Given the description of an element on the screen output the (x, y) to click on. 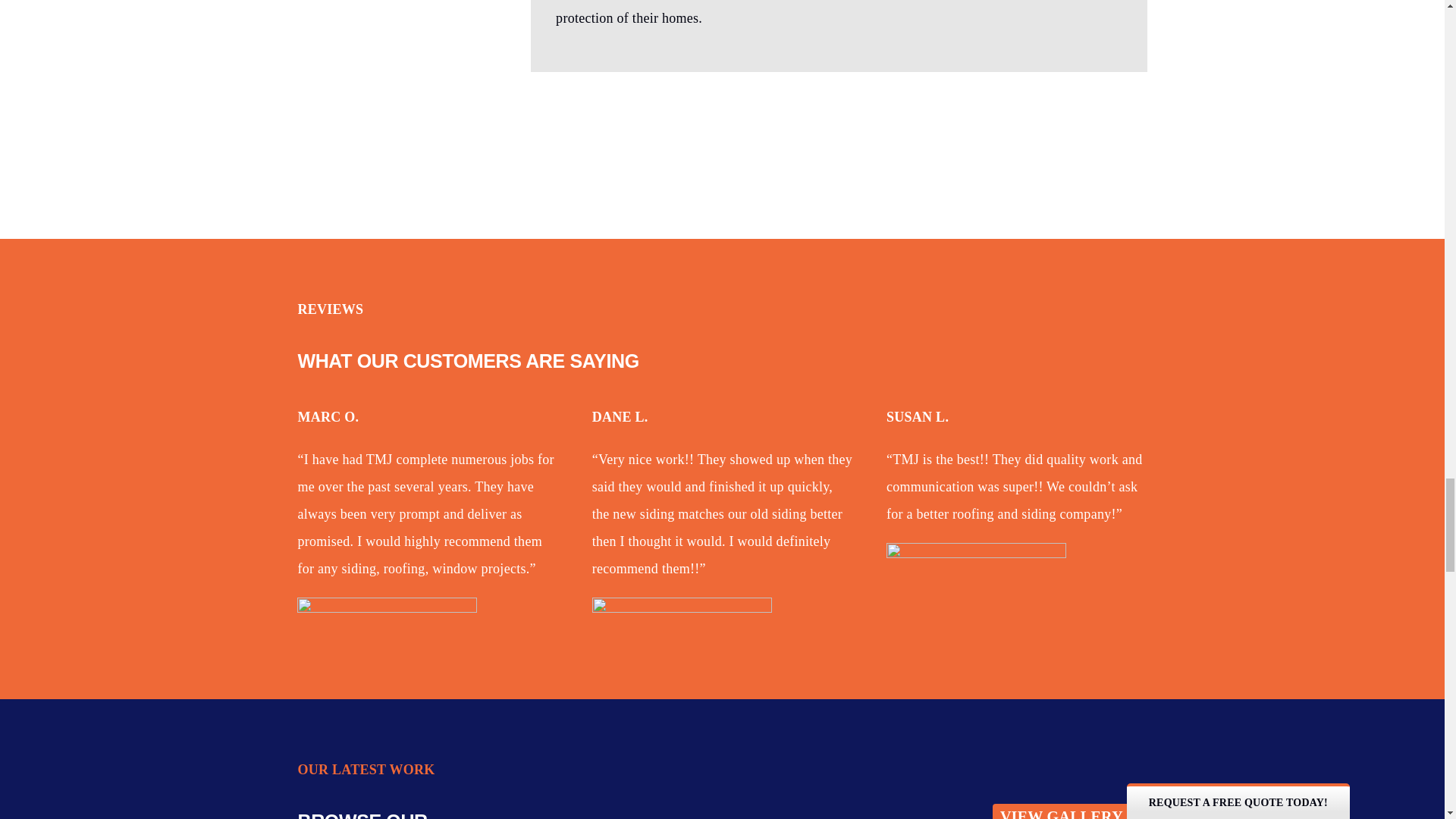
Group 120 (387, 612)
